Given the description of an element on the screen output the (x, y) to click on. 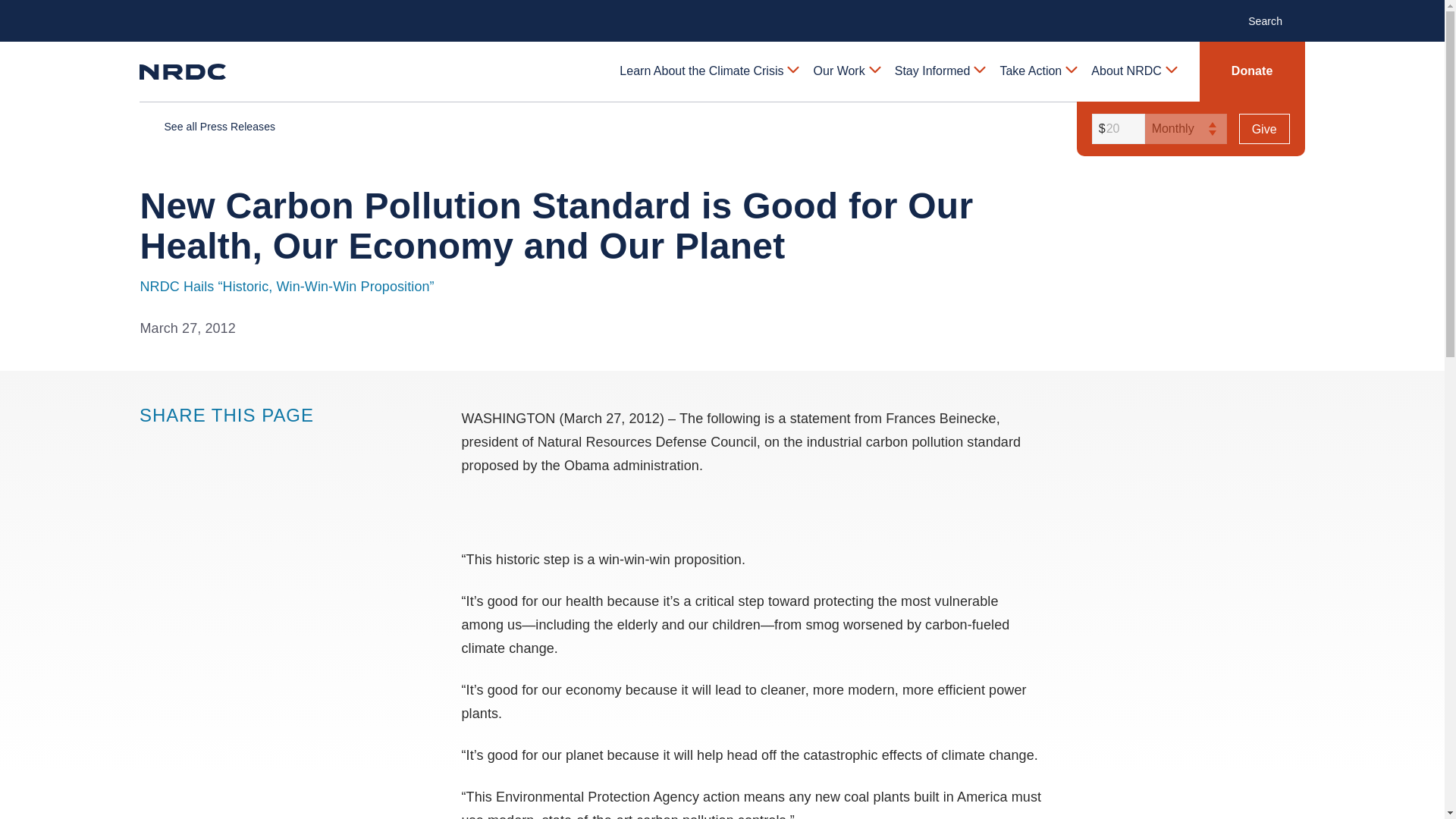
Our Work (846, 71)
Share this page block (180, 444)
Stay Informed (939, 71)
Skip to main content (721, 12)
20 (1116, 128)
Learn About the Climate Crisis (707, 71)
Share this page block (210, 444)
Share this page block (149, 444)
Search (1272, 19)
